Given the description of an element on the screen output the (x, y) to click on. 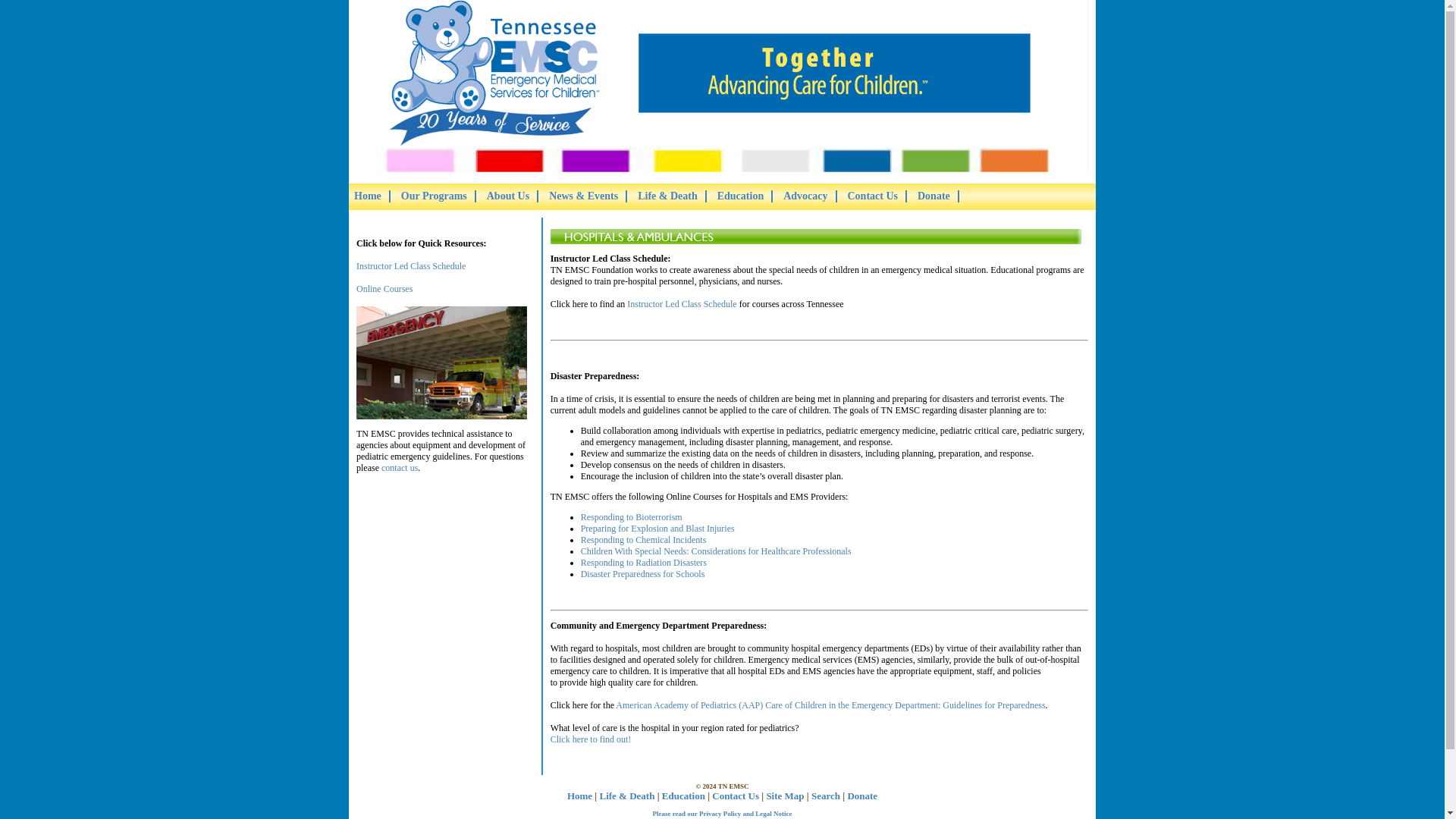
Online Courses (384, 288)
Instructor Led Class Schedule (681, 303)
Home (367, 196)
contact us (399, 467)
Donate (933, 196)
Instructor Led Class Schedule (410, 266)
